Given the description of an element on the screen output the (x, y) to click on. 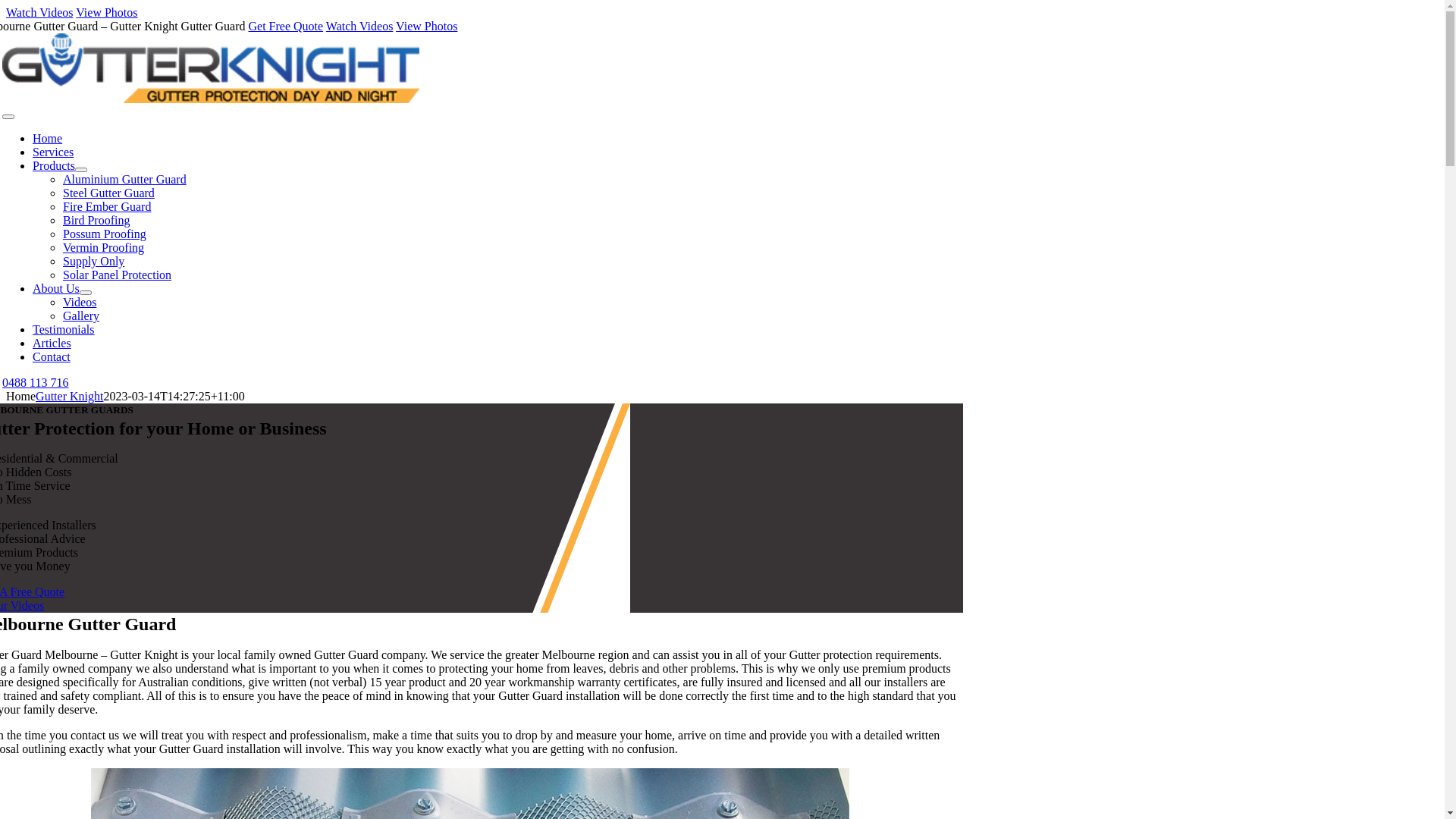
Testimonials Element type: text (63, 329)
Contact Element type: text (51, 356)
Vermin Proofing Element type: text (103, 247)
Toggle Navigation Element type: text (8, 116)
Services Element type: text (52, 151)
Home Element type: text (47, 137)
Gallery Element type: text (80, 315)
Home 1 Element type: hover (210, 68)
View Photos Element type: text (106, 12)
About Us Element type: text (55, 288)
Videos Element type: text (79, 301)
Aluminium Gutter Guard Element type: text (124, 178)
Articles Element type: text (51, 342)
Supply Only Element type: text (93, 260)
Watch Videos Element type: text (359, 25)
Get Free Quote Element type: text (285, 25)
Solar Panel Protection Element type: text (116, 274)
0488 113 716 Element type: text (35, 382)
Watch Videos Element type: text (39, 12)
Possum Proofing Element type: text (104, 233)
Gutter Knight Element type: text (69, 395)
Steel Gutter Guard Element type: text (108, 192)
Bird Proofing Element type: text (95, 219)
Skip to content Element type: text (5, 5)
Products Element type: text (53, 165)
Fire Ember Guard Element type: text (106, 206)
View Photos Element type: text (426, 25)
